Given the description of an element on the screen output the (x, y) to click on. 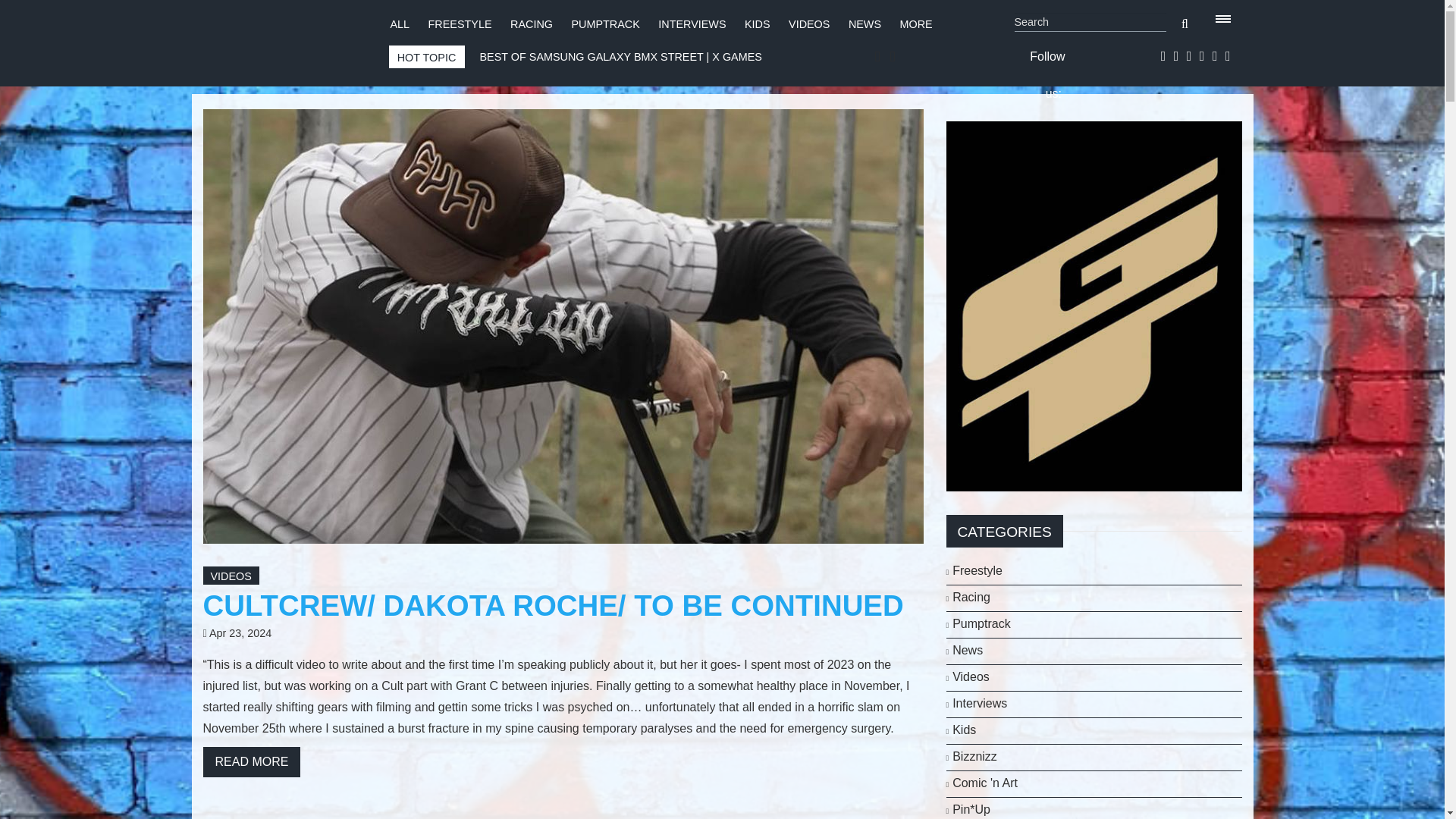
FREESTYLE (460, 24)
KIDS (757, 24)
FATBMX Your Online BMX News Resource Since 1998 (281, 38)
MORE (916, 24)
GT BMX (1093, 305)
INTERVIEWS (691, 24)
Search (1090, 22)
RACING (532, 24)
search (1185, 23)
NEWS (864, 24)
search (1185, 23)
VIDEOS (231, 576)
ALL (399, 24)
VIDEOS (809, 24)
